Given the description of an element on the screen output the (x, y) to click on. 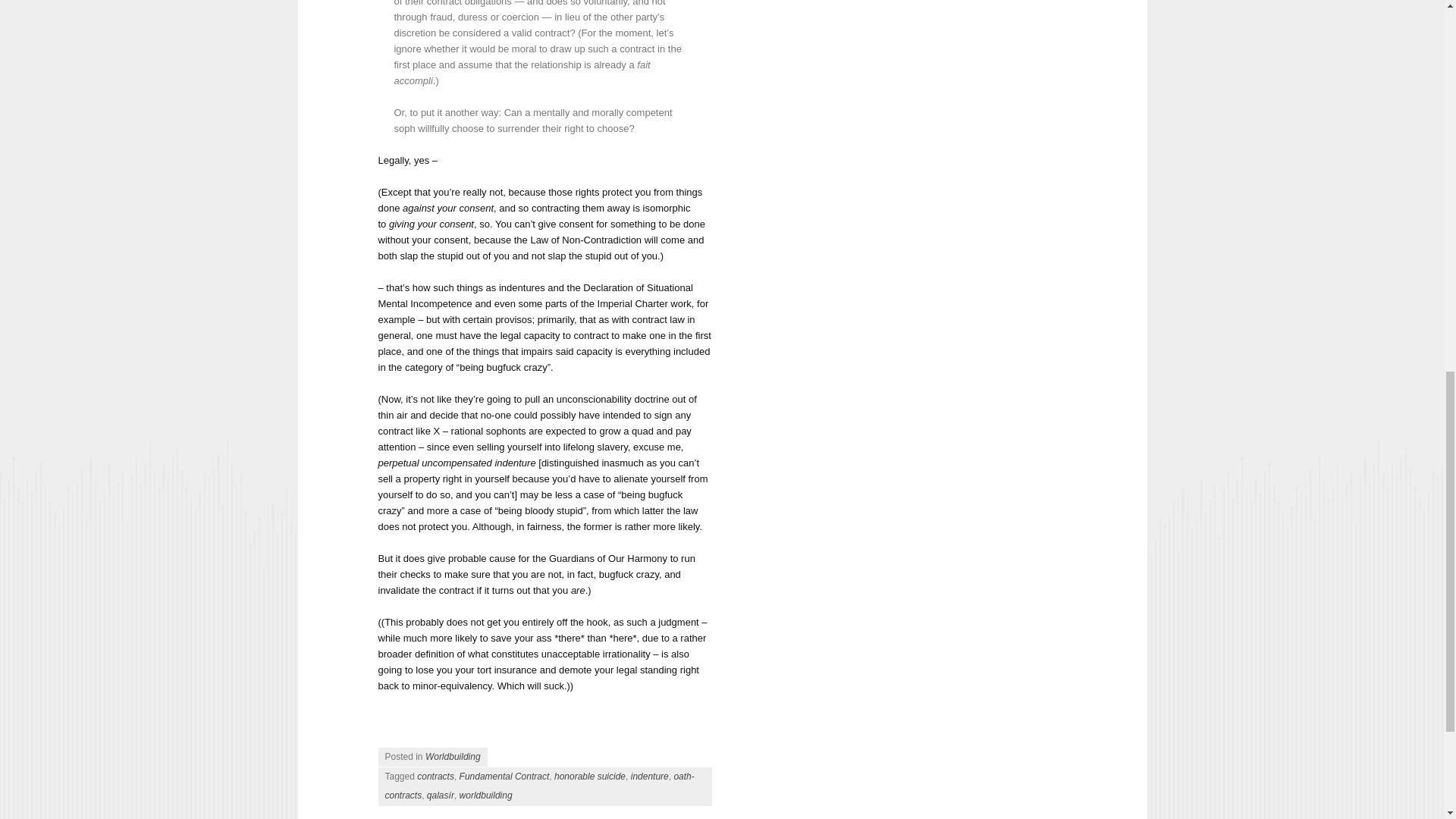
worldbuilding (486, 795)
honorable suicide (590, 776)
indenture (649, 776)
Worldbuilding (452, 756)
contracts (435, 776)
oath-contracts (539, 785)
Fundamental Contract (505, 776)
